Given the description of an element on the screen output the (x, y) to click on. 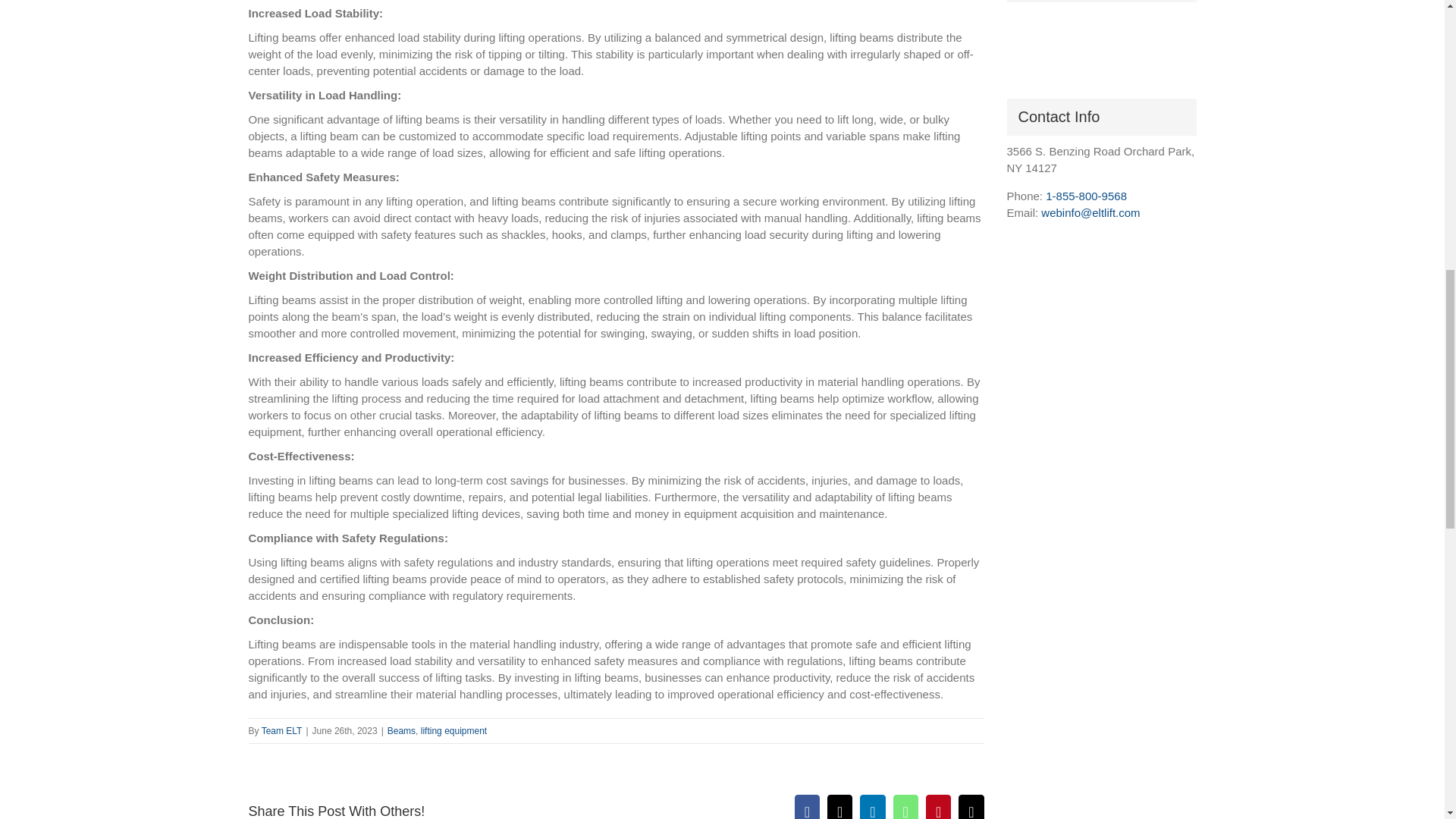
Facebook (806, 806)
WhatsApp (905, 806)
LinkedIn (872, 806)
Pinterest (938, 806)
Email (971, 806)
Posts by Team ELT (282, 729)
X (839, 806)
